Given the description of an element on the screen output the (x, y) to click on. 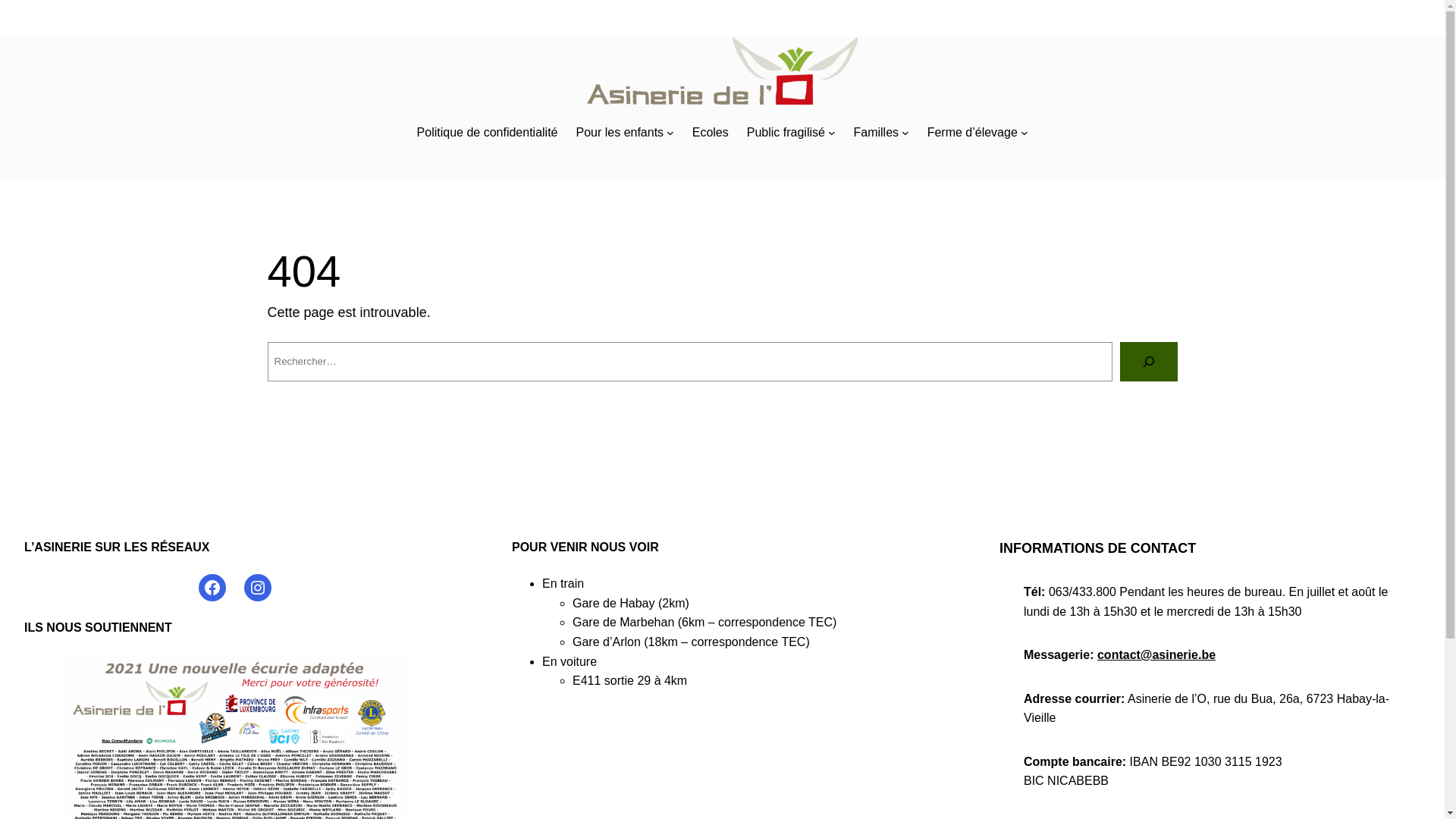
Ecoles Element type: text (710, 132)
Instagram Element type: text (257, 587)
Facebook Element type: text (211, 587)
contact@asinerie.be Element type: text (1156, 654)
Familles Element type: text (875, 132)
Pour les enfants Element type: text (619, 132)
